Given the description of an element on the screen output the (x, y) to click on. 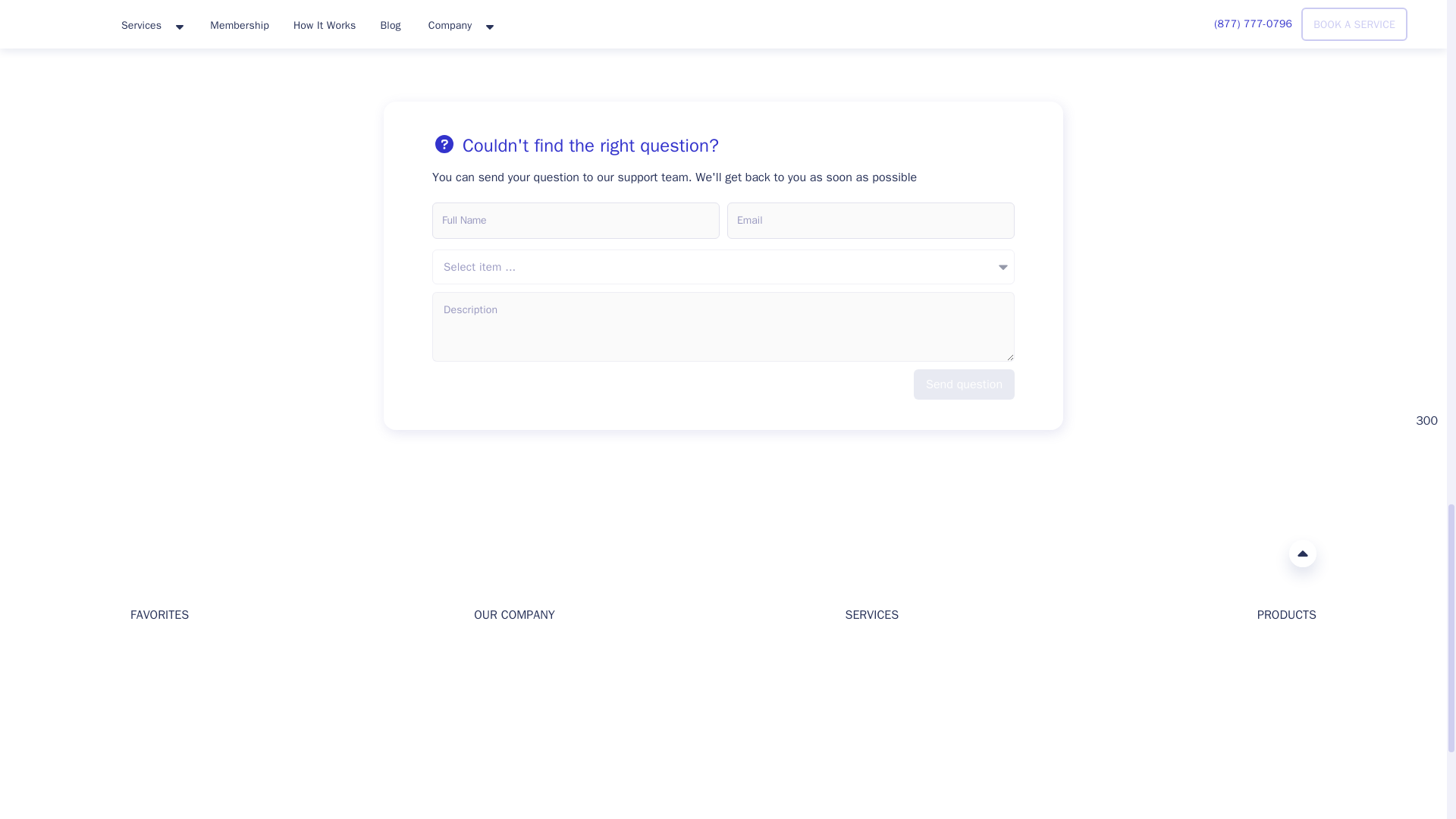
Locations (154, 724)
Membership (160, 748)
Blog (141, 675)
About Us (496, 651)
HomeAlliance (146, 552)
Welcome (152, 651)
Send question (964, 384)
Select item ... (723, 266)
